Given the description of an element on the screen output the (x, y) to click on. 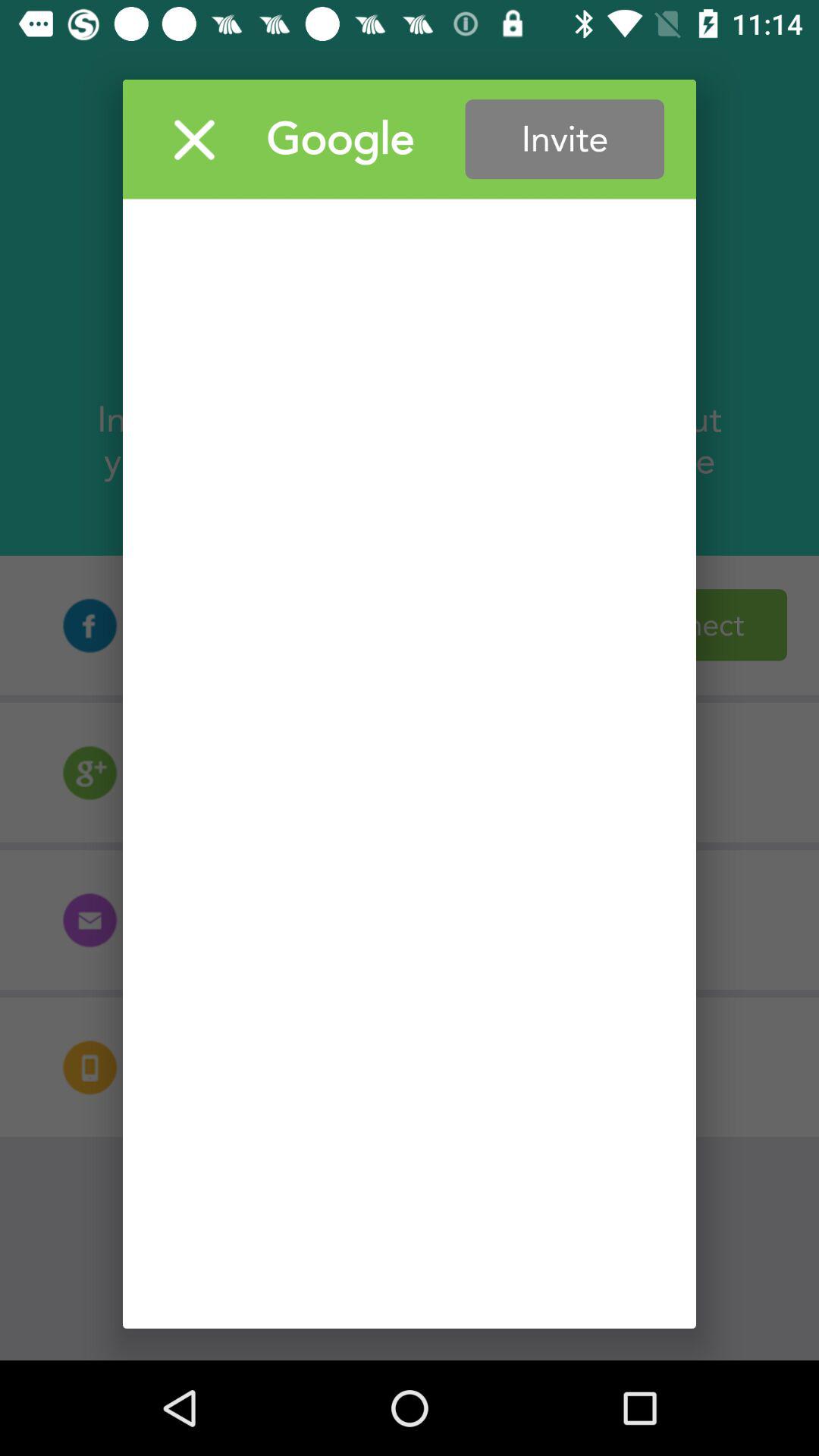
close window (194, 139)
